Given the description of an element on the screen output the (x, y) to click on. 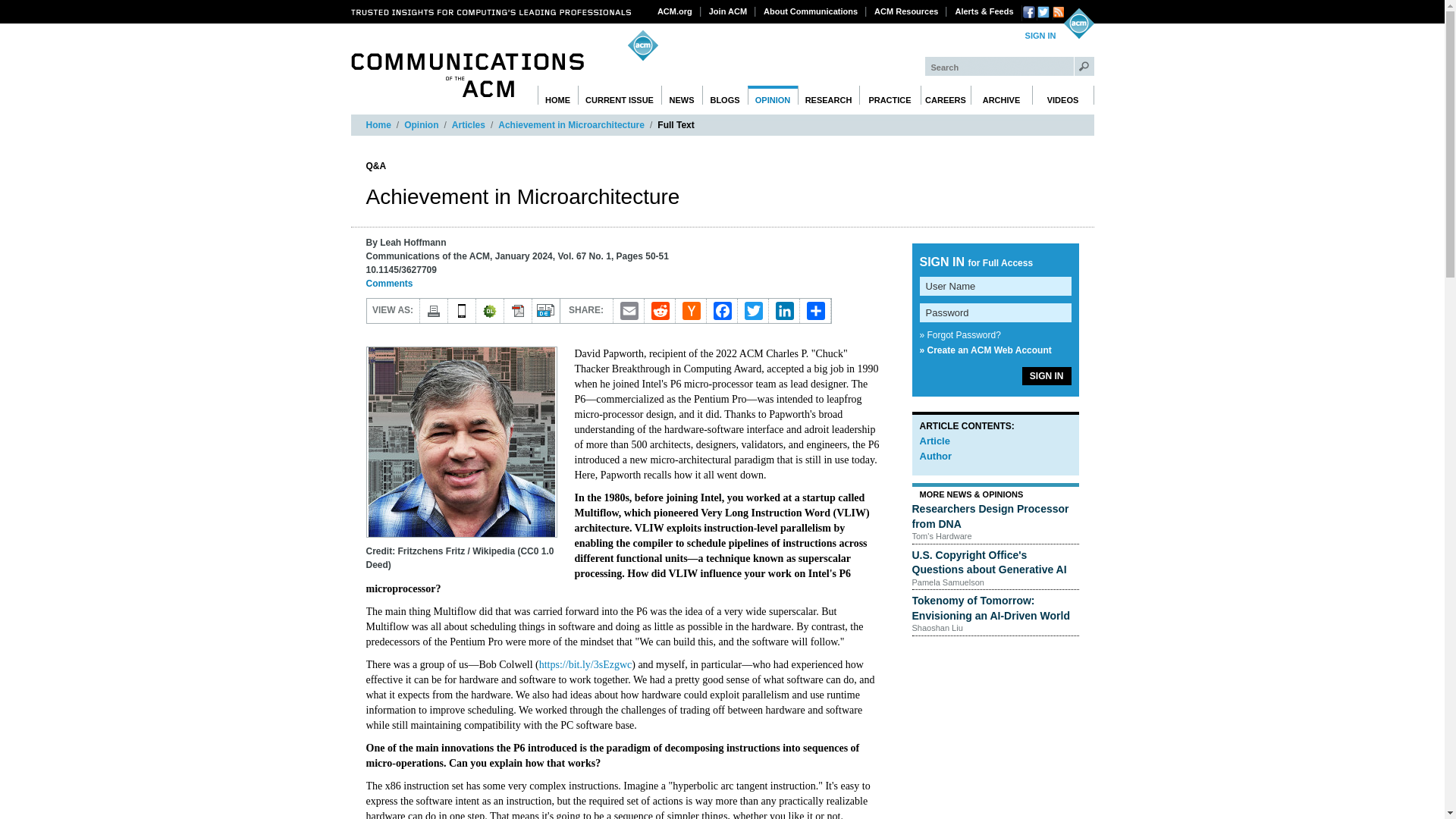
ACM Resources (906, 11)
RESEARCH (828, 94)
ACM (1077, 23)
ACM (1077, 23)
ACM.org (674, 11)
BLOGS (724, 94)
CURRENT ISSUE (620, 94)
HOME (557, 94)
NEWS (682, 94)
OPINION (772, 94)
Communications of the ACM (466, 75)
Login (1041, 35)
View as PDF (517, 310)
About Communications (810, 11)
Communications of the ACM (466, 75)
